Given the description of an element on the screen output the (x, y) to click on. 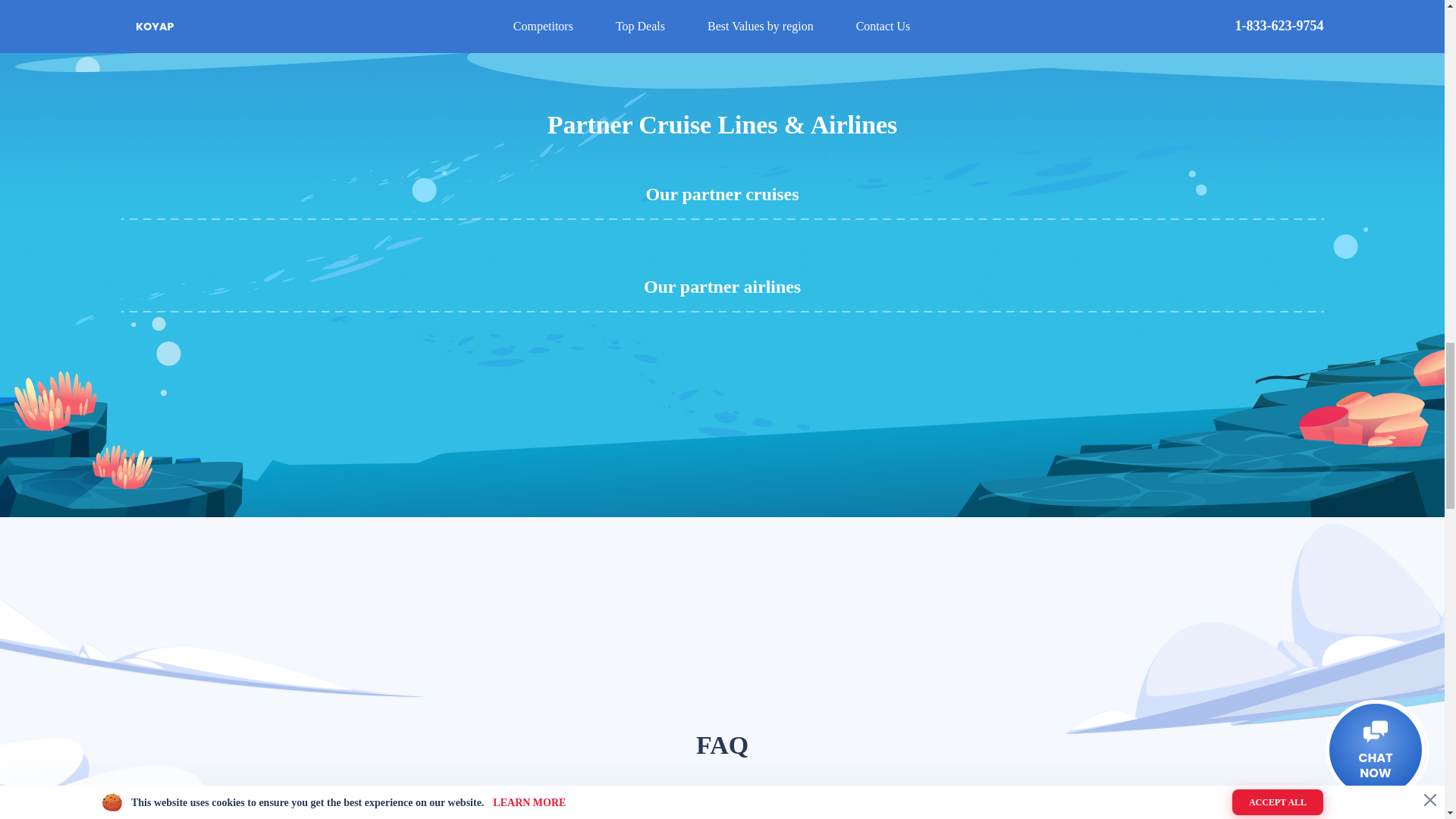
CRUISE (589, 810)
FLIGHT (855, 810)
